Given the description of an element on the screen output the (x, y) to click on. 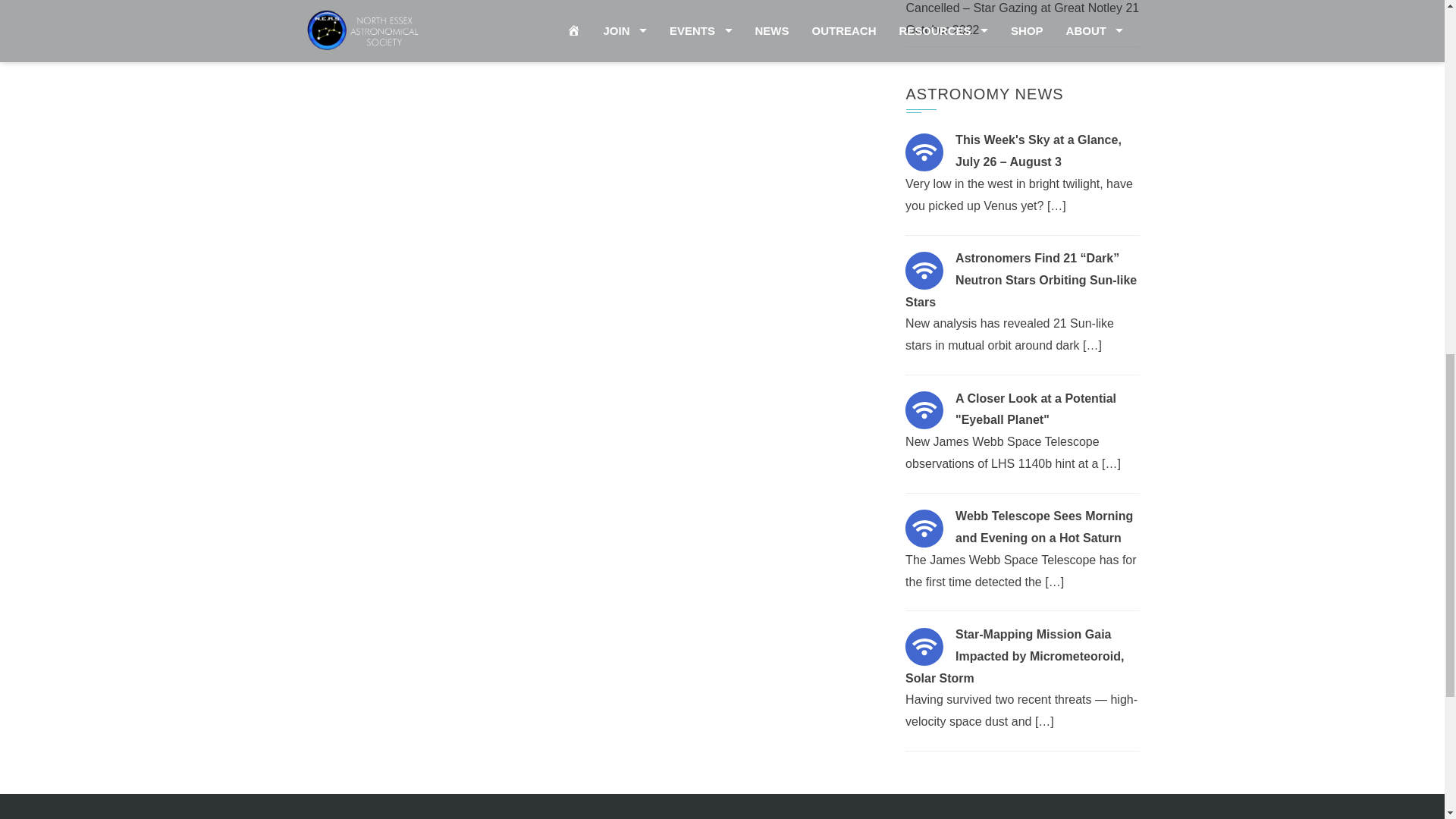
Webb Telescope Sees Morning and Evening on a Hot Saturn (924, 528)
A Closer Look at a Potential "Eyeball Planet" (924, 410)
